Given the description of an element on the screen output the (x, y) to click on. 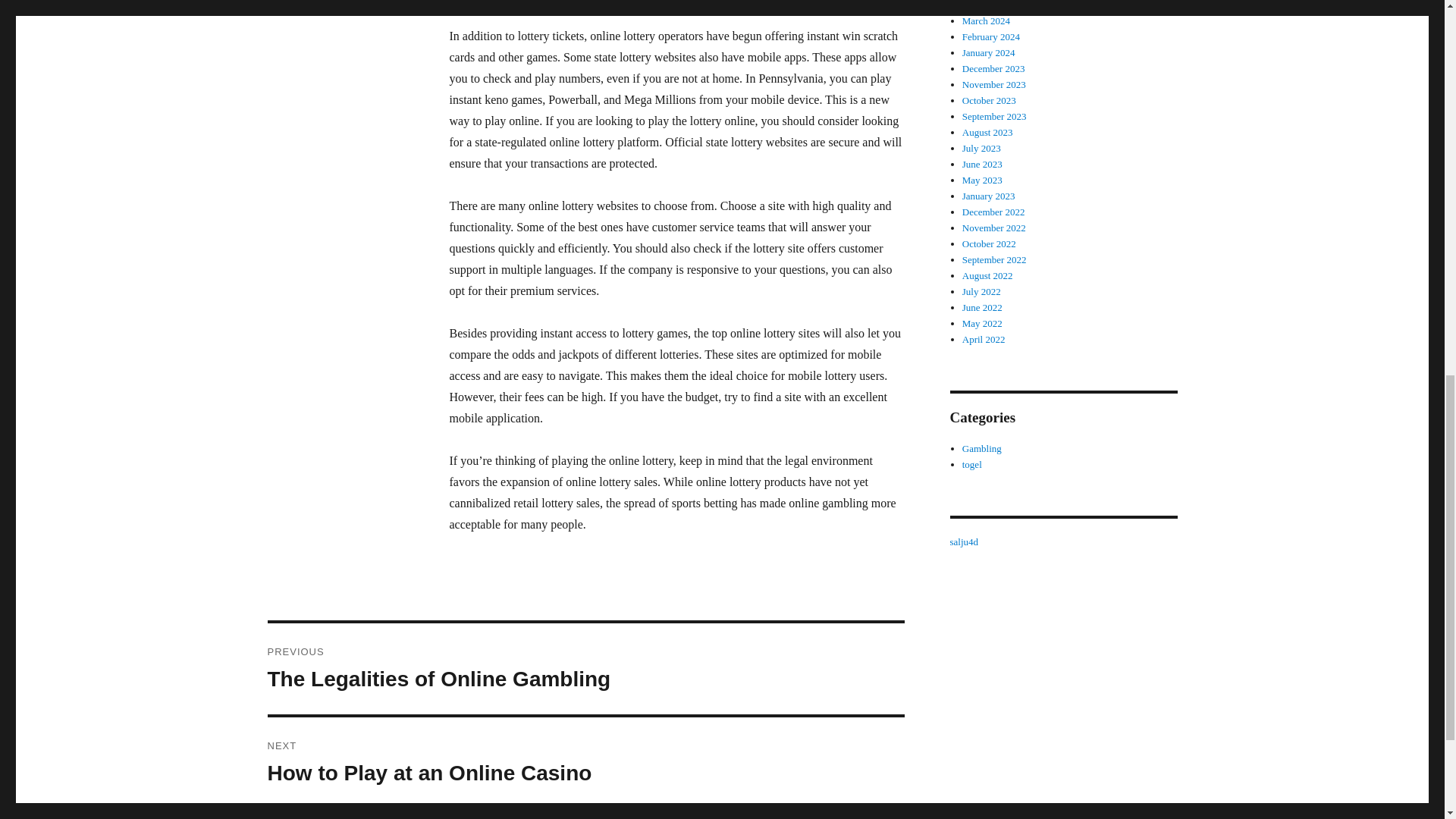
March 2024 (986, 20)
January 2024 (988, 52)
January 2023 (988, 195)
December 2022 (993, 211)
April 2024 (984, 5)
September 2023 (994, 116)
February 2024 (991, 36)
November 2023 (994, 84)
December 2023 (993, 68)
July 2023 (981, 147)
